Given the description of an element on the screen output the (x, y) to click on. 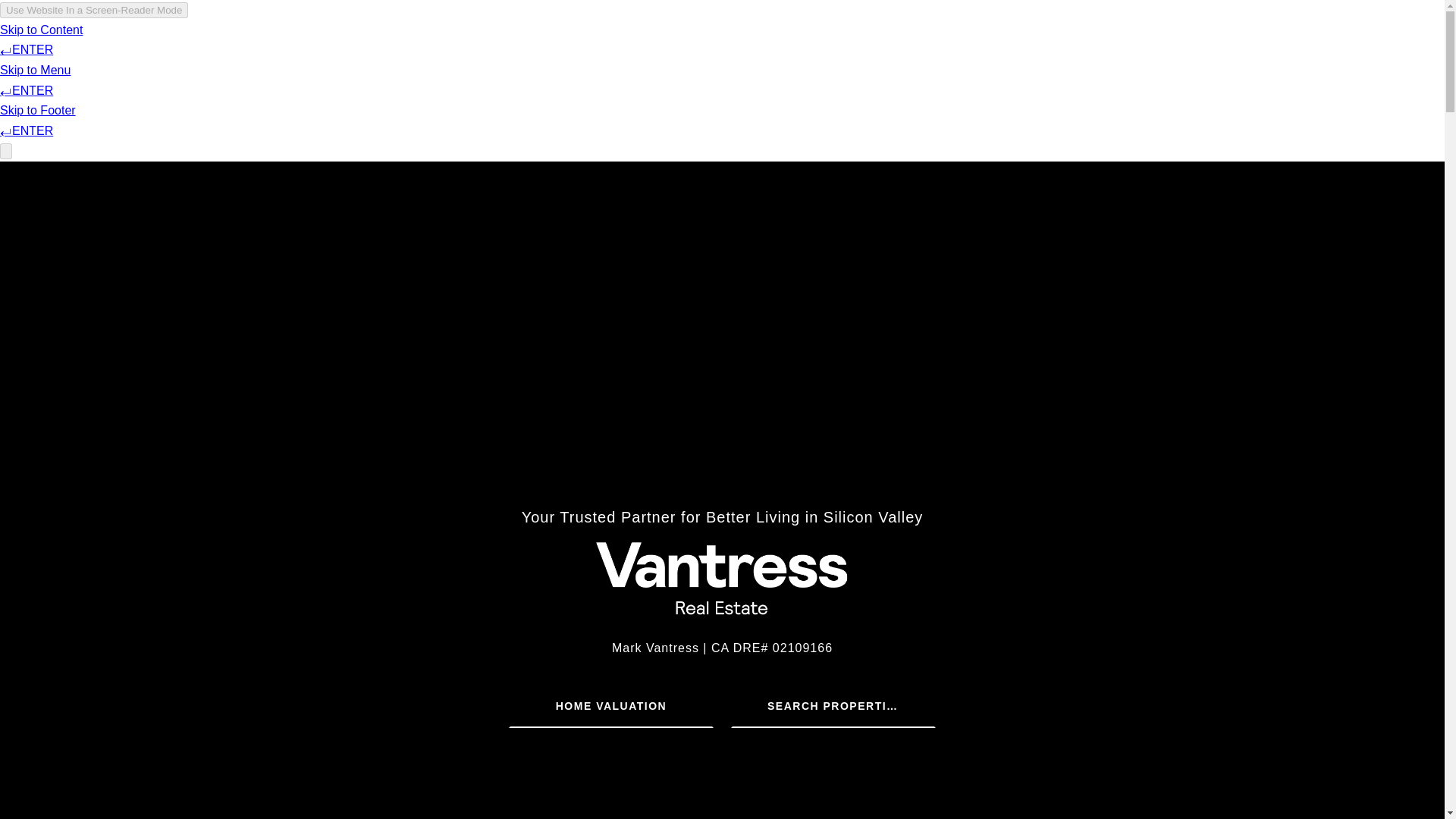
LET'S CONNECT (1046, 55)
HOME VALUATION (610, 705)
SEARCH PROPERTIES (833, 705)
HOME SEARCH (936, 55)
PROPERTIES (836, 55)
